Given the description of an element on the screen output the (x, y) to click on. 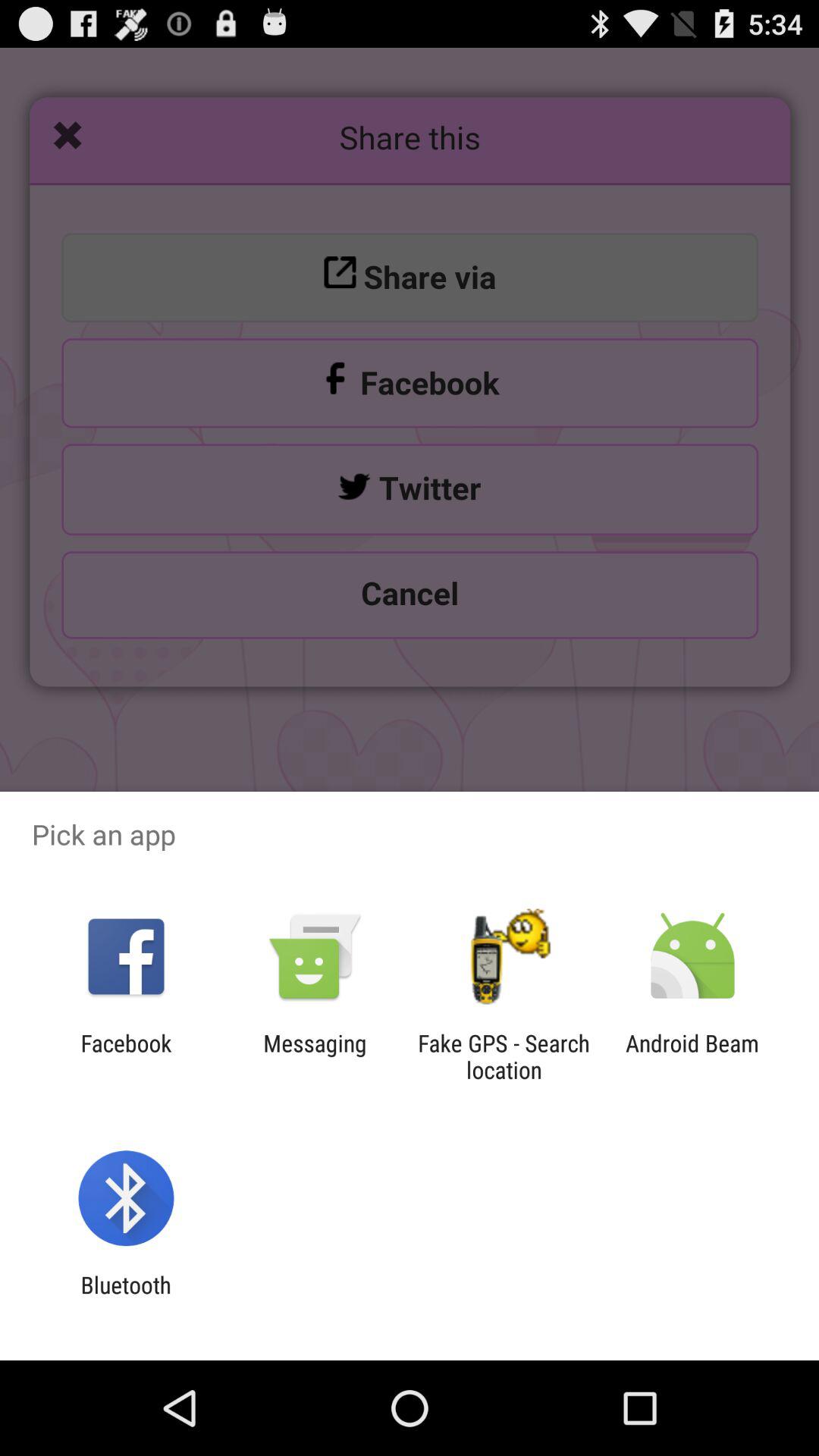
launch fake gps search icon (503, 1056)
